Given the description of an element on the screen output the (x, y) to click on. 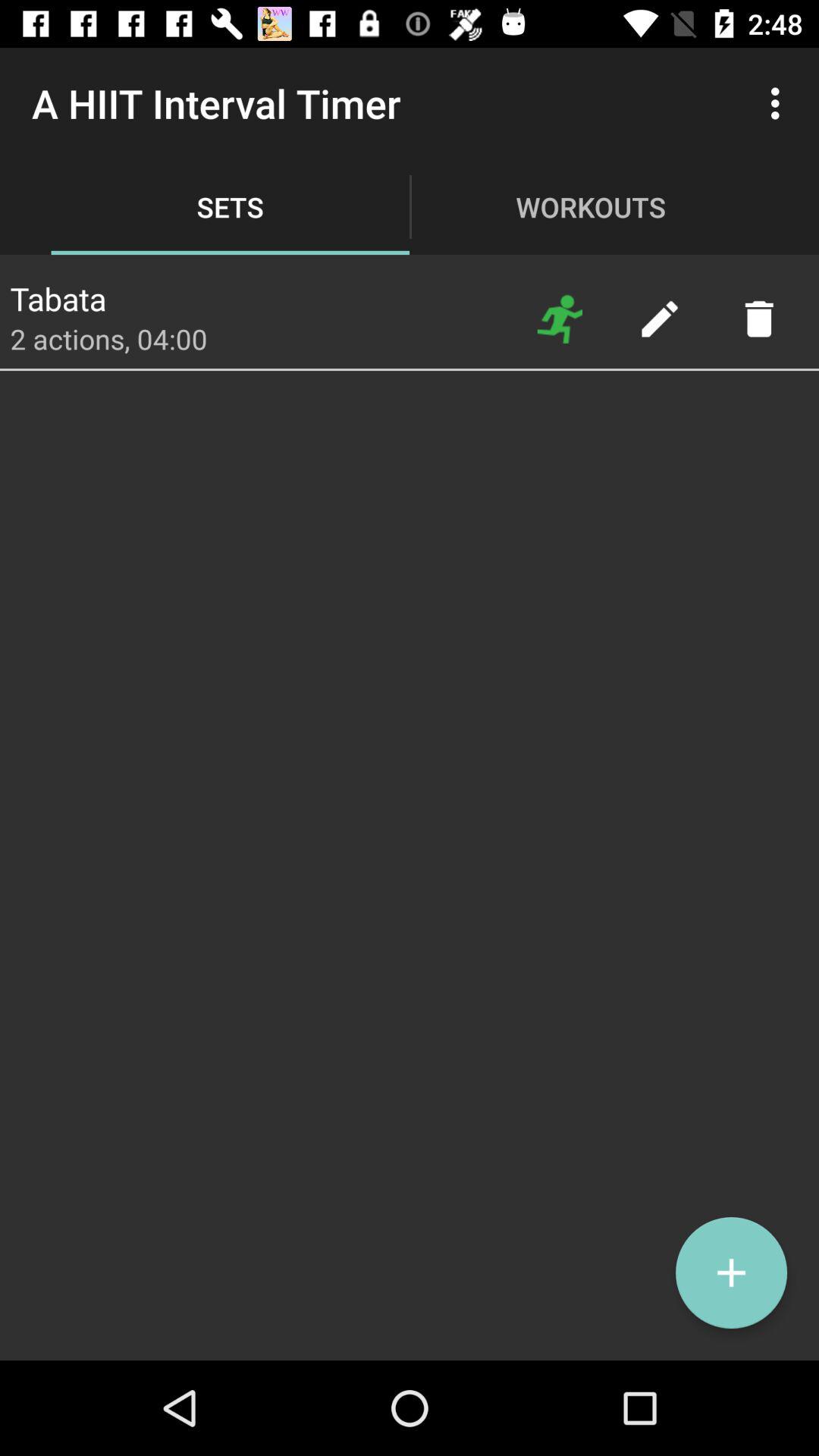
trash item (758, 318)
